Given the description of an element on the screen output the (x, y) to click on. 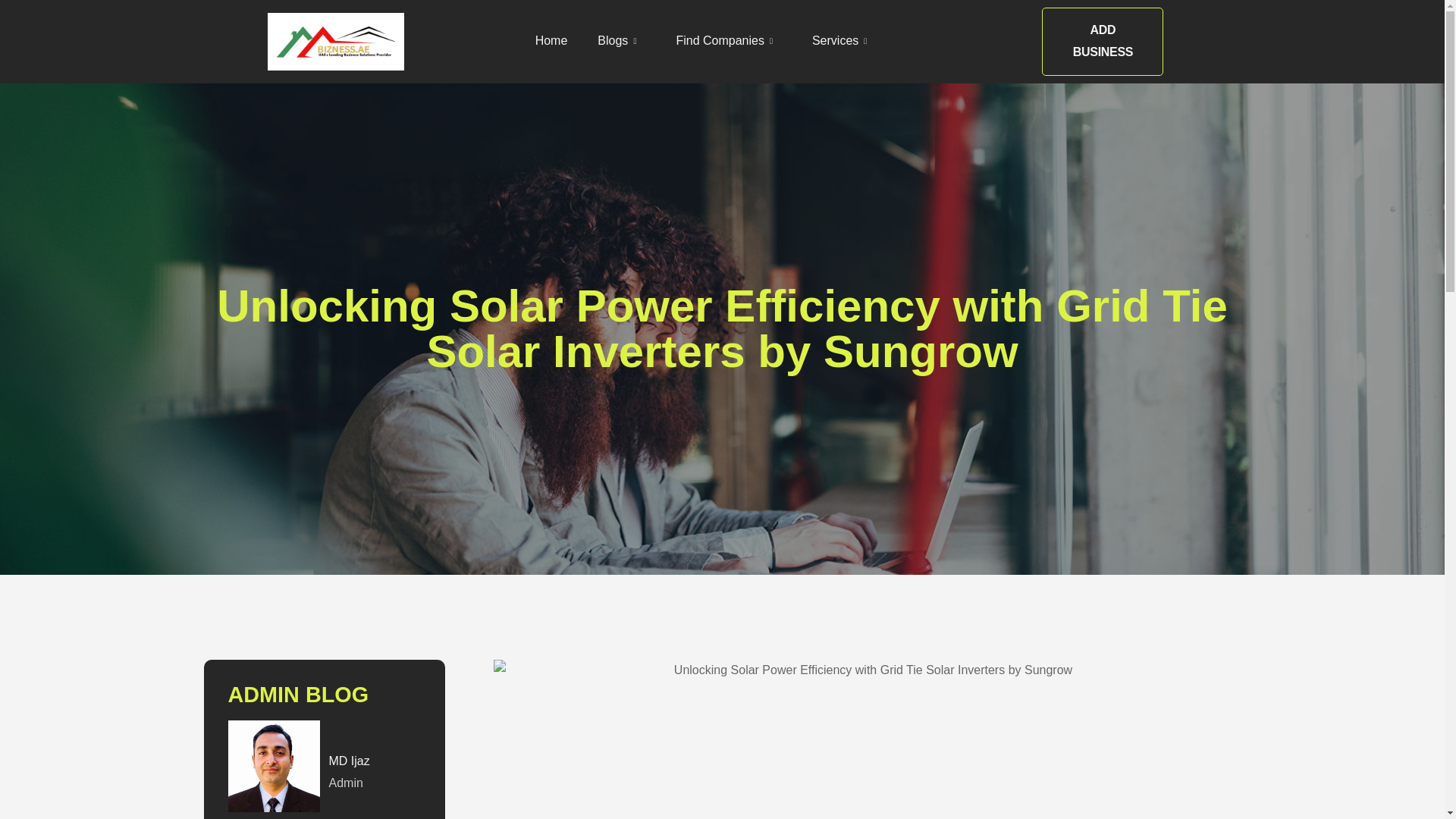
Blogs (634, 41)
ADD BUSINESS (1102, 41)
Services (857, 41)
MD Ijaz (349, 760)
Find Companies (742, 41)
Home (565, 41)
